Given the description of an element on the screen output the (x, y) to click on. 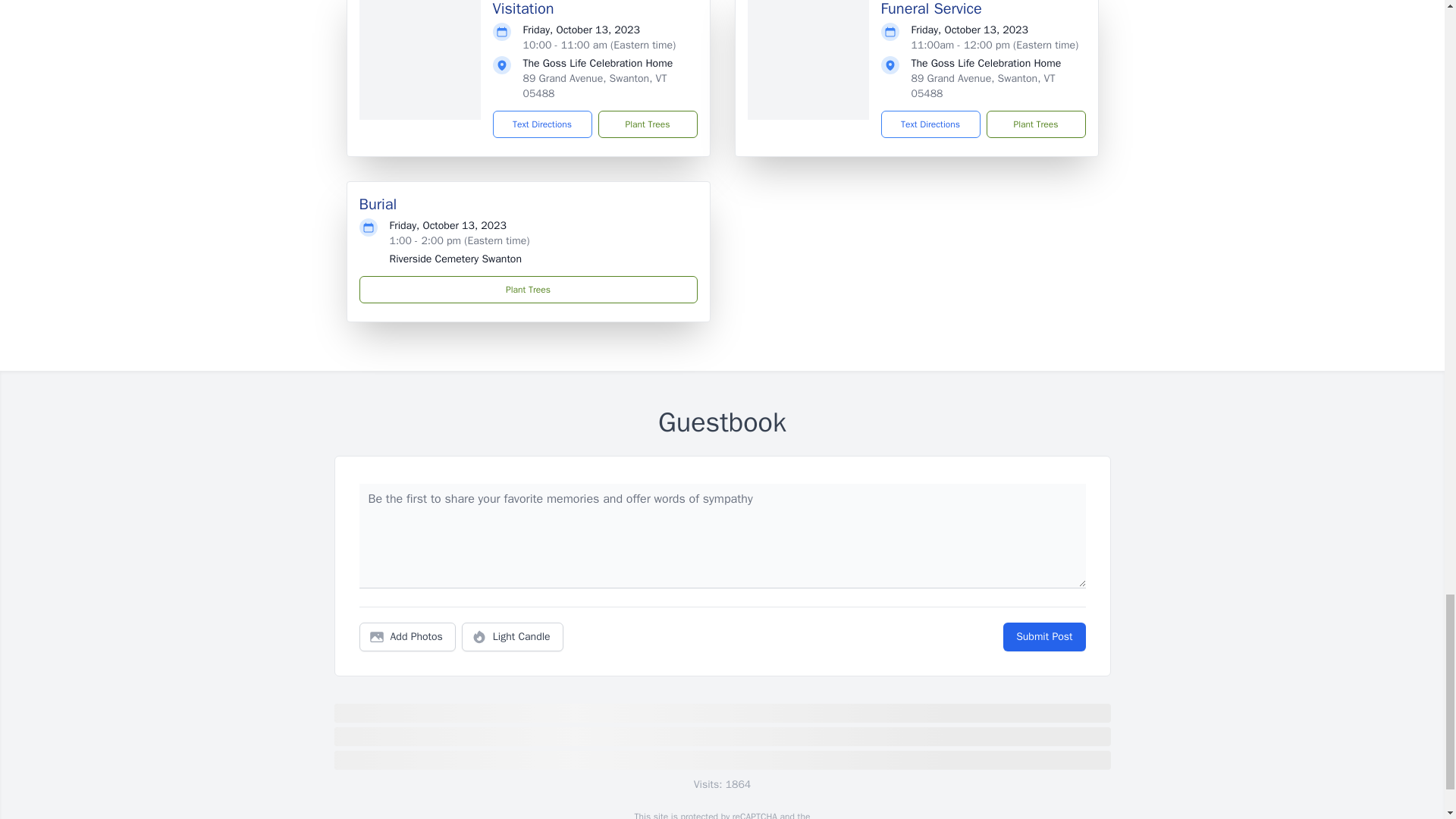
Submit Post (1043, 636)
Text Directions (929, 124)
Text Directions (542, 124)
Add Photos (407, 636)
Plant Trees (1034, 124)
89 Grand Avenue, Swanton, VT 05488 (594, 85)
Light Candle (512, 636)
89 Grand Avenue, Swanton, VT 05488 (983, 85)
Plant Trees (528, 289)
Plant Trees (646, 124)
